Given the description of an element on the screen output the (x, y) to click on. 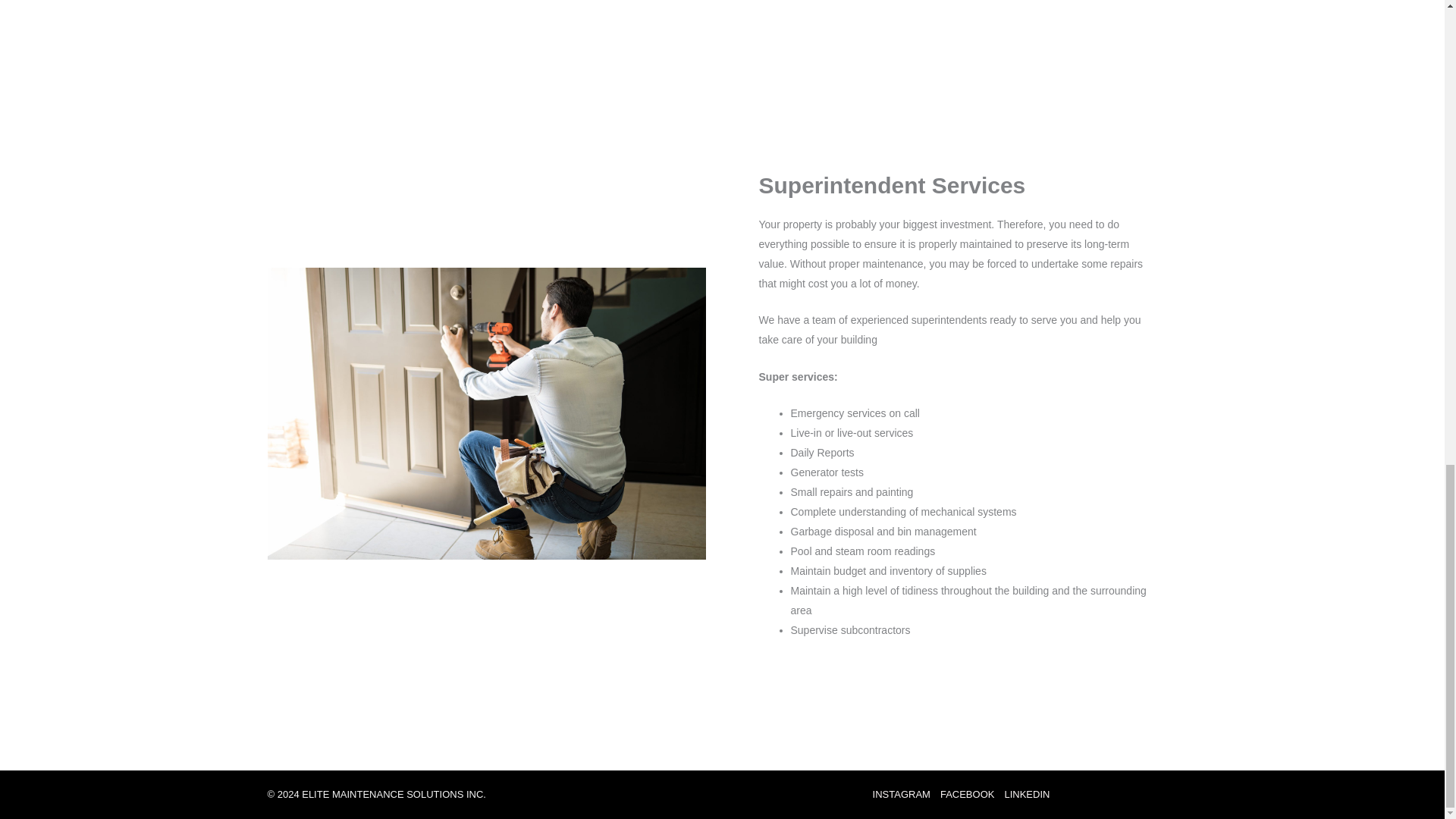
INSTAGRAM (904, 794)
LINKEDIN (1023, 794)
FACEBOOK (966, 794)
